Given the description of an element on the screen output the (x, y) to click on. 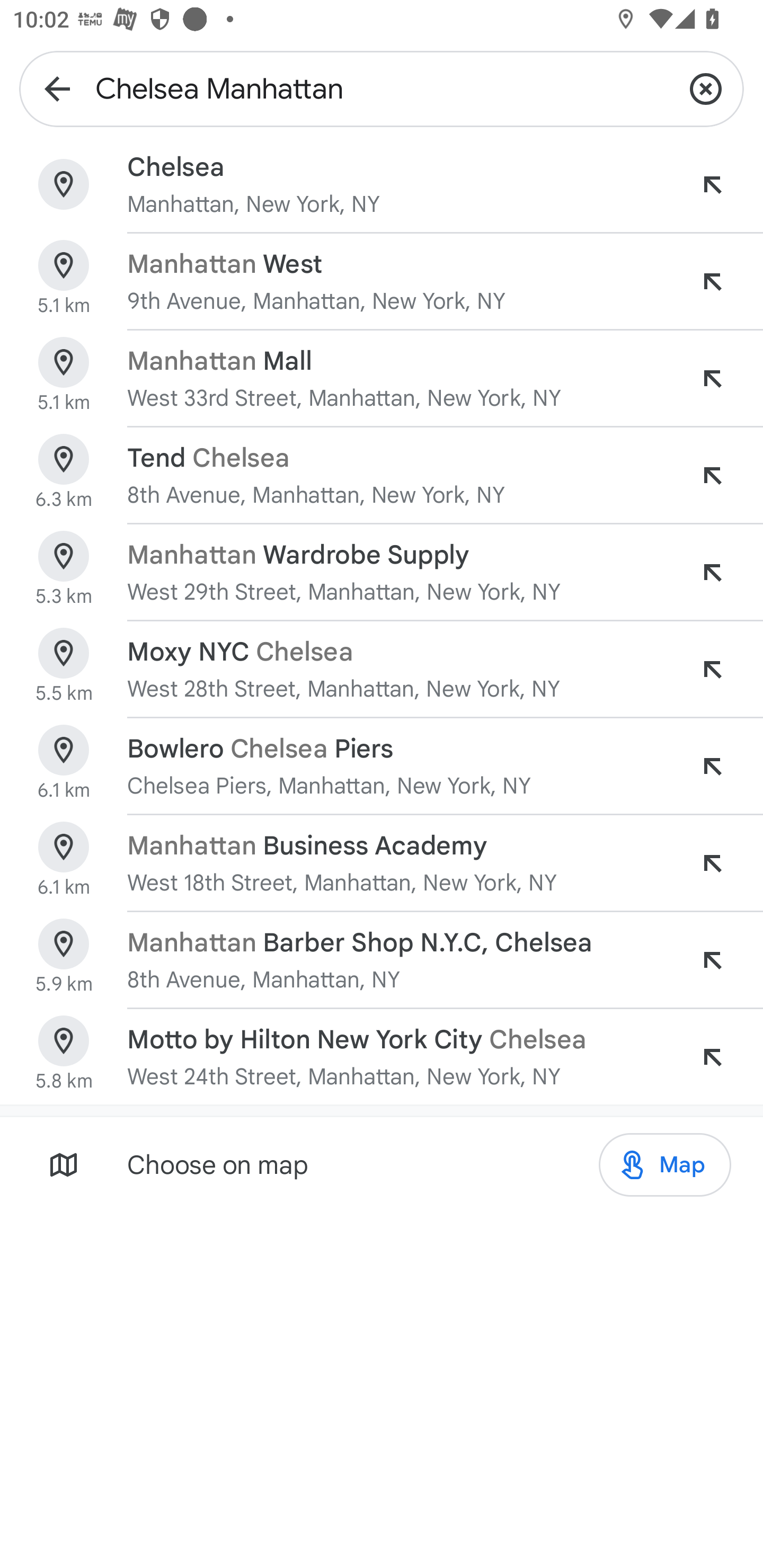
Navigate up (57, 88)
Chelsea Manhattan (381, 88)
Clear (705, 88)
Choose on map Map Map Map (381, 1164)
Map Map Map (664, 1164)
